Given the description of an element on the screen output the (x, y) to click on. 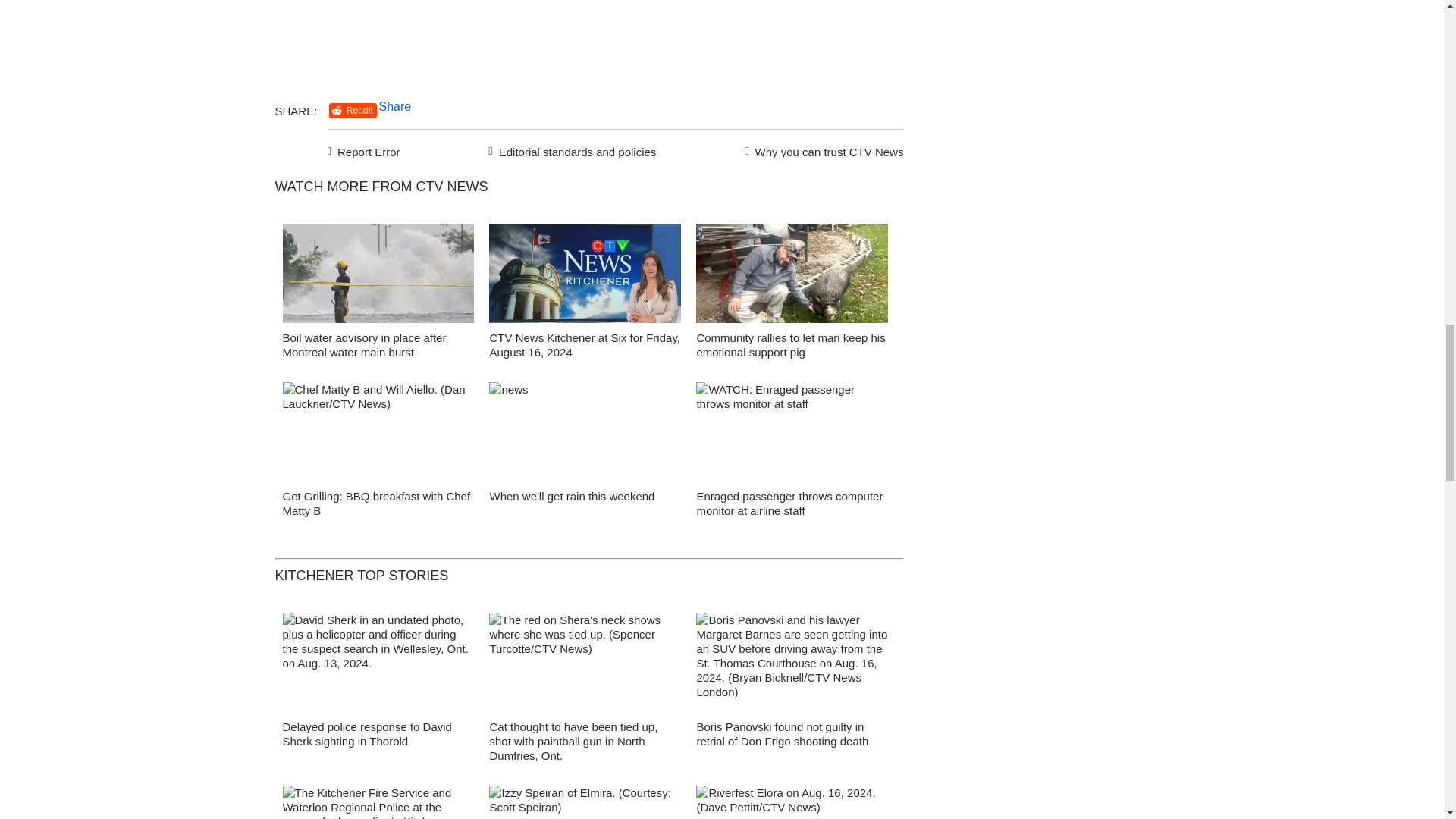
will aiello chef matty b (378, 435)
Editorial standards and policies (569, 149)
Reddit (353, 110)
Enraged passenger throws computer monitor at airline staff (788, 502)
CTV News Kitchener at Six for Friday, August 16, 2024 (584, 344)
Report Error (363, 149)
news (585, 435)
Delayed police response to David Sherk sighting in Thorold (366, 733)
false (791, 272)
